Given the description of an element on the screen output the (x, y) to click on. 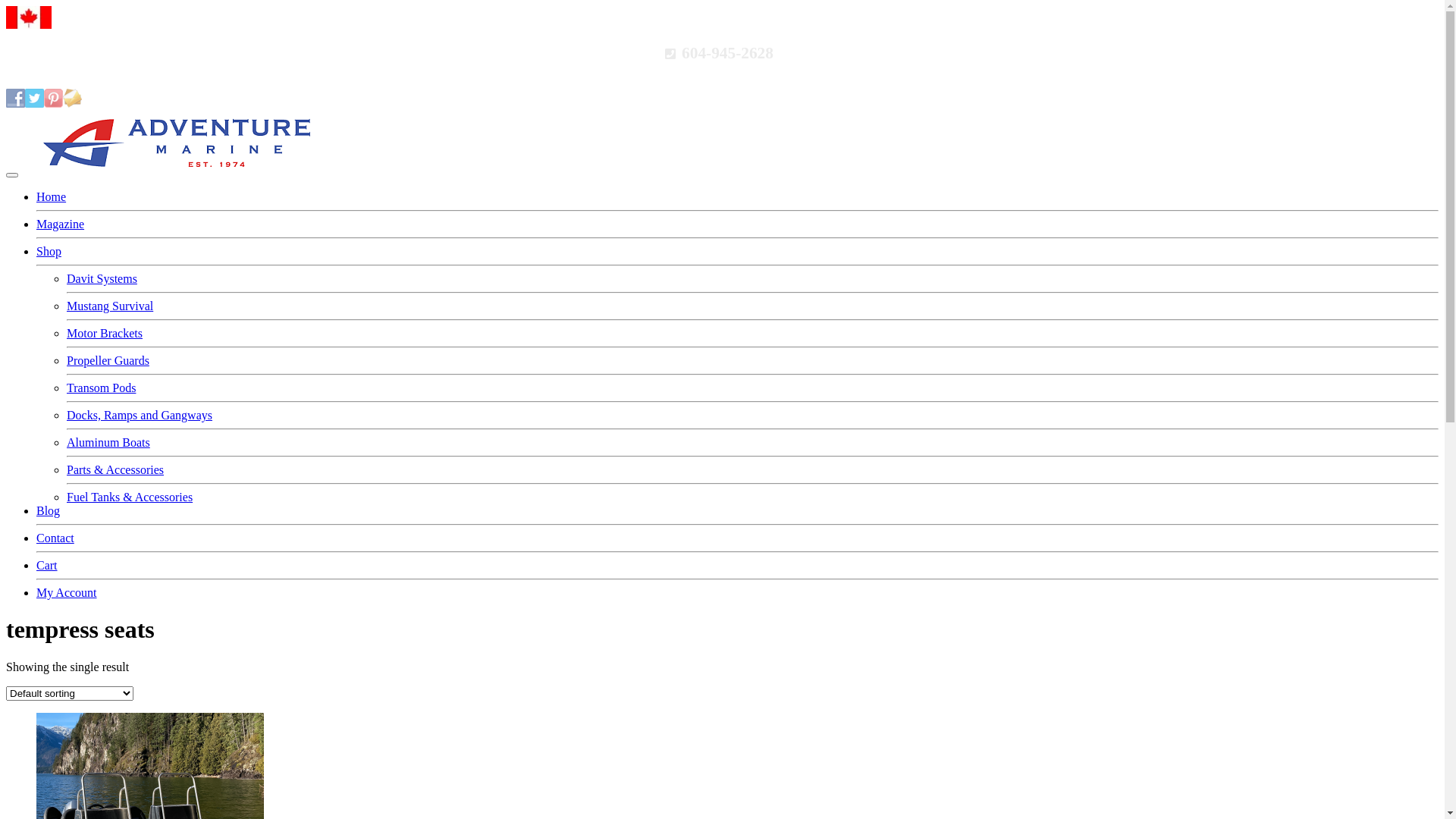
Follow Us on Twitter Element type: hover (34, 97)
Follow Us on E-mail Element type: hover (71, 97)
Blog Element type: text (47, 510)
Magazine Element type: text (60, 223)
Follow Us on Facebook Element type: hover (15, 97)
Propeller Guards Element type: text (107, 360)
Home Element type: text (50, 196)
Docks, Ramps and Gangways Element type: text (139, 414)
Motor Brackets Element type: text (104, 332)
Aluminum Boats Element type: text (108, 442)
Parts & Accessories Element type: text (114, 469)
Contact Element type: text (55, 537)
Cart Element type: text (46, 564)
Davit Systems Element type: text (101, 278)
Shop Element type: text (48, 250)
Mustang Survival Element type: text (109, 305)
Follow Us on Pinterest Element type: hover (52, 97)
Transom Pods Element type: text (100, 387)
My Account Element type: text (66, 592)
Fuel Tanks & Accessories Element type: text (129, 496)
